Given the description of an element on the screen output the (x, y) to click on. 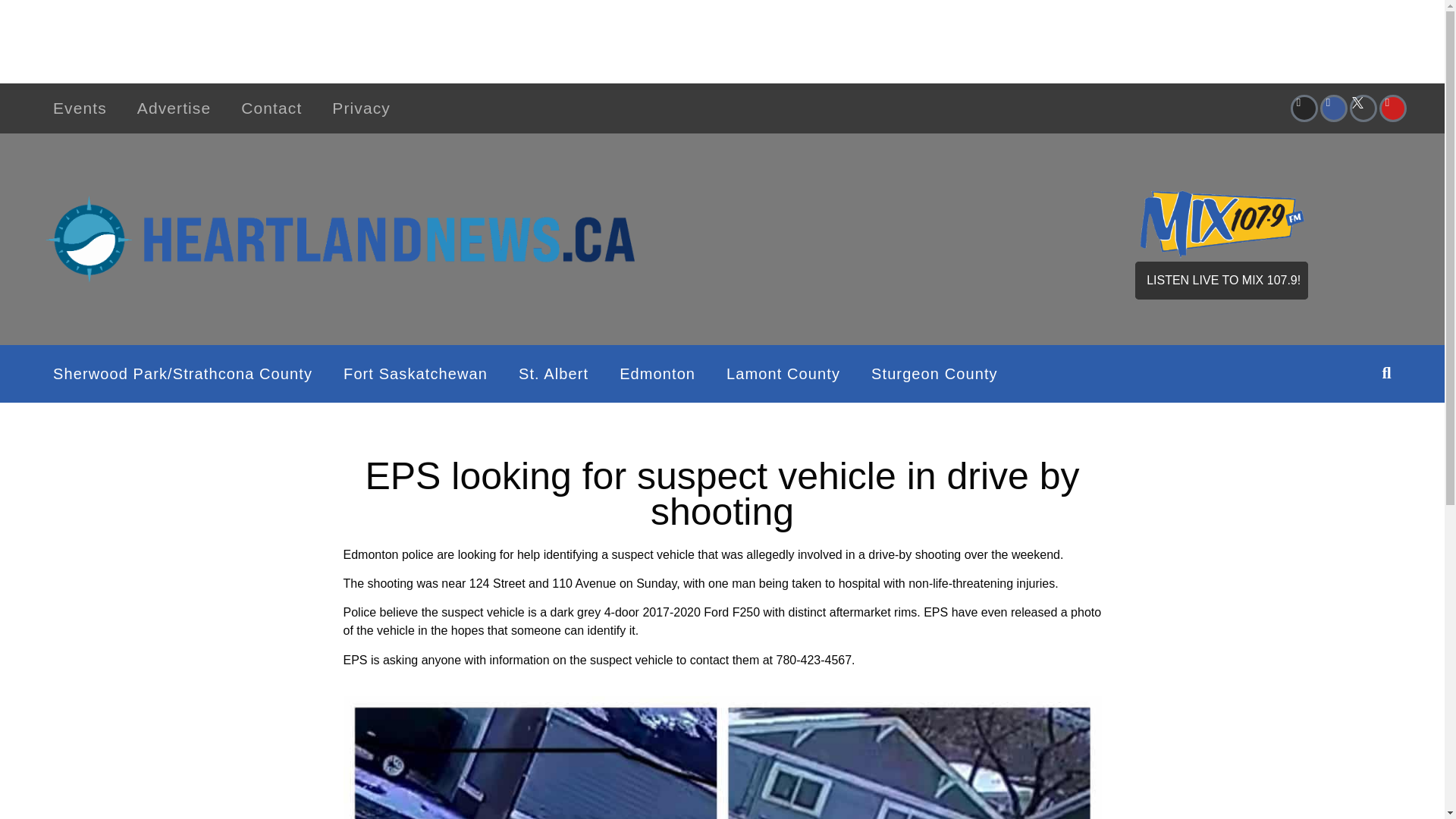
St. Albert (553, 373)
Events (79, 107)
Fort Saskatchewan (415, 373)
Sturgeon County (934, 373)
Lamont County (783, 373)
Edmonton (657, 373)
Advertise (173, 107)
Environment Canada Weather (788, 236)
LISTEN LIVE TO MIX 107.9! (1221, 280)
Contact (271, 107)
